Given the description of an element on the screen output the (x, y) to click on. 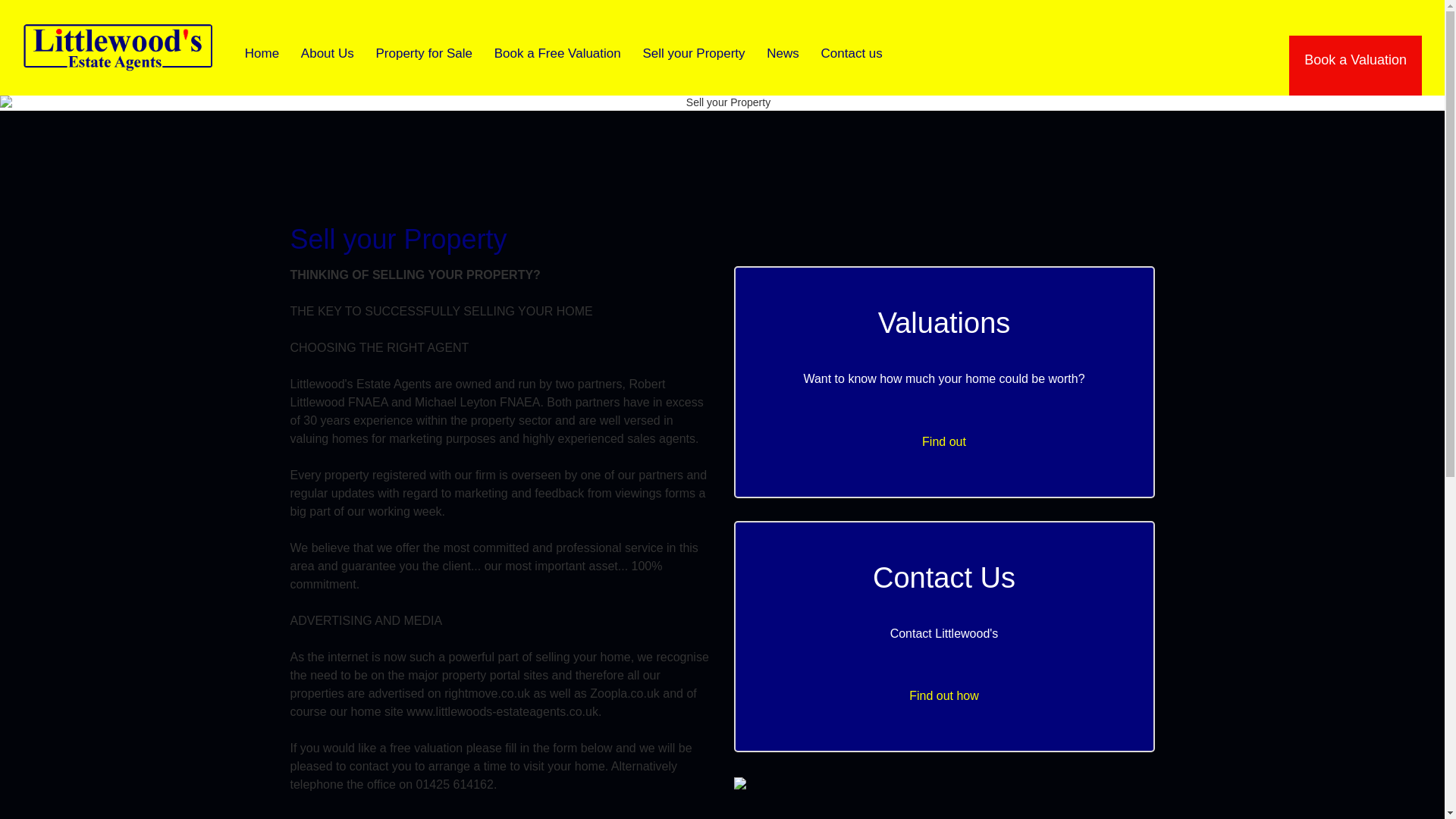
Contact us (851, 52)
Book a Valuation (944, 632)
News (1355, 65)
About Us (784, 52)
Book a Free Valuation (329, 52)
Home (559, 52)
Sell your Property (263, 52)
Property for Sale (695, 52)
